Given the description of an element on the screen output the (x, y) to click on. 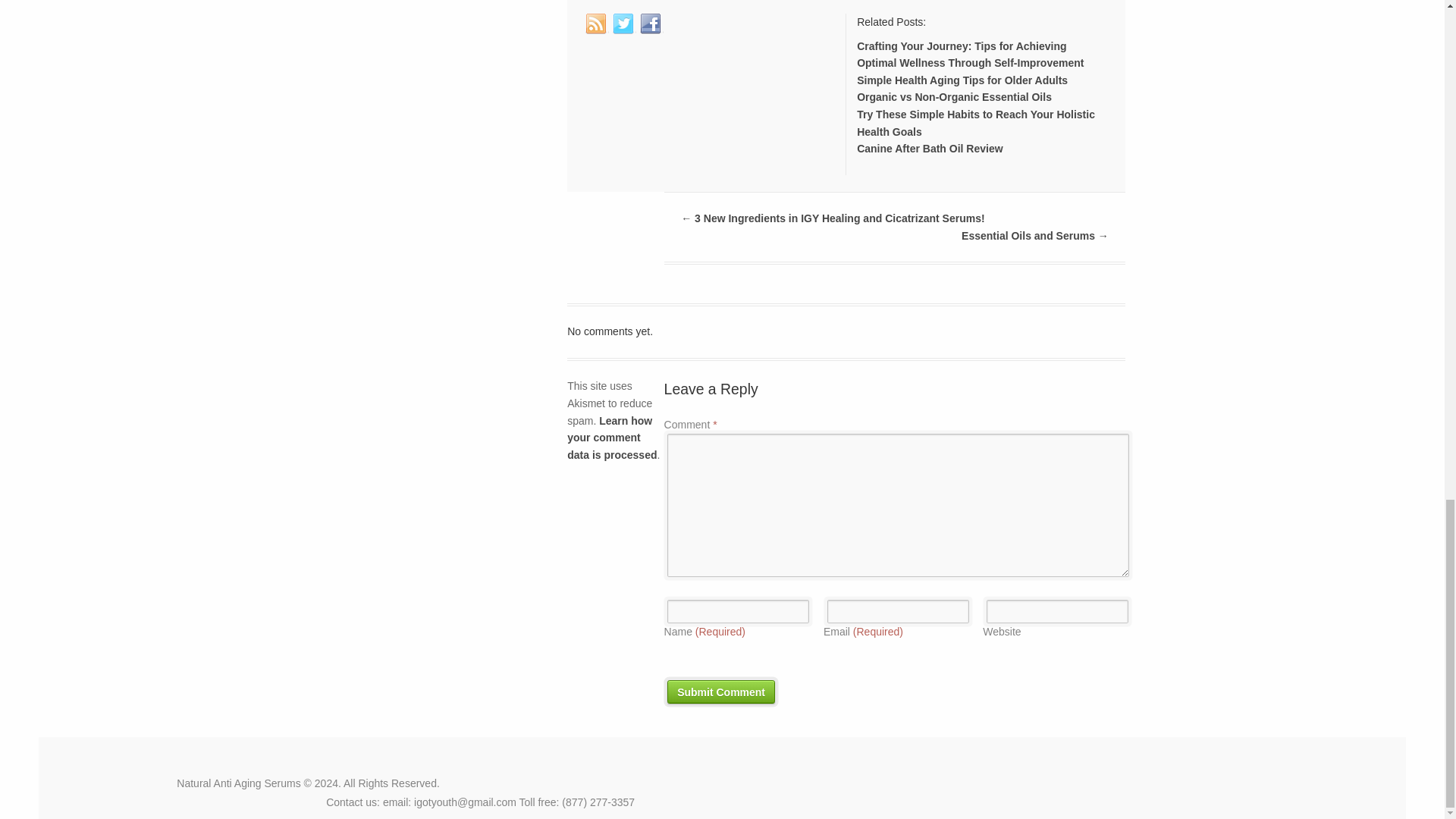
Try These Simple Habits to Reach Your Holistic Health Goals (975, 123)
Organic vs Non-Organic Essential Oils (954, 96)
RSS (596, 24)
Twitter (623, 24)
Canine After Bath Oil Review (930, 148)
Simple Health Aging Tips for Older Adults (962, 80)
Submit Comment (720, 691)
Canine After Bath Oil Review (930, 148)
Facebook (651, 24)
